Given the description of an element on the screen output the (x, y) to click on. 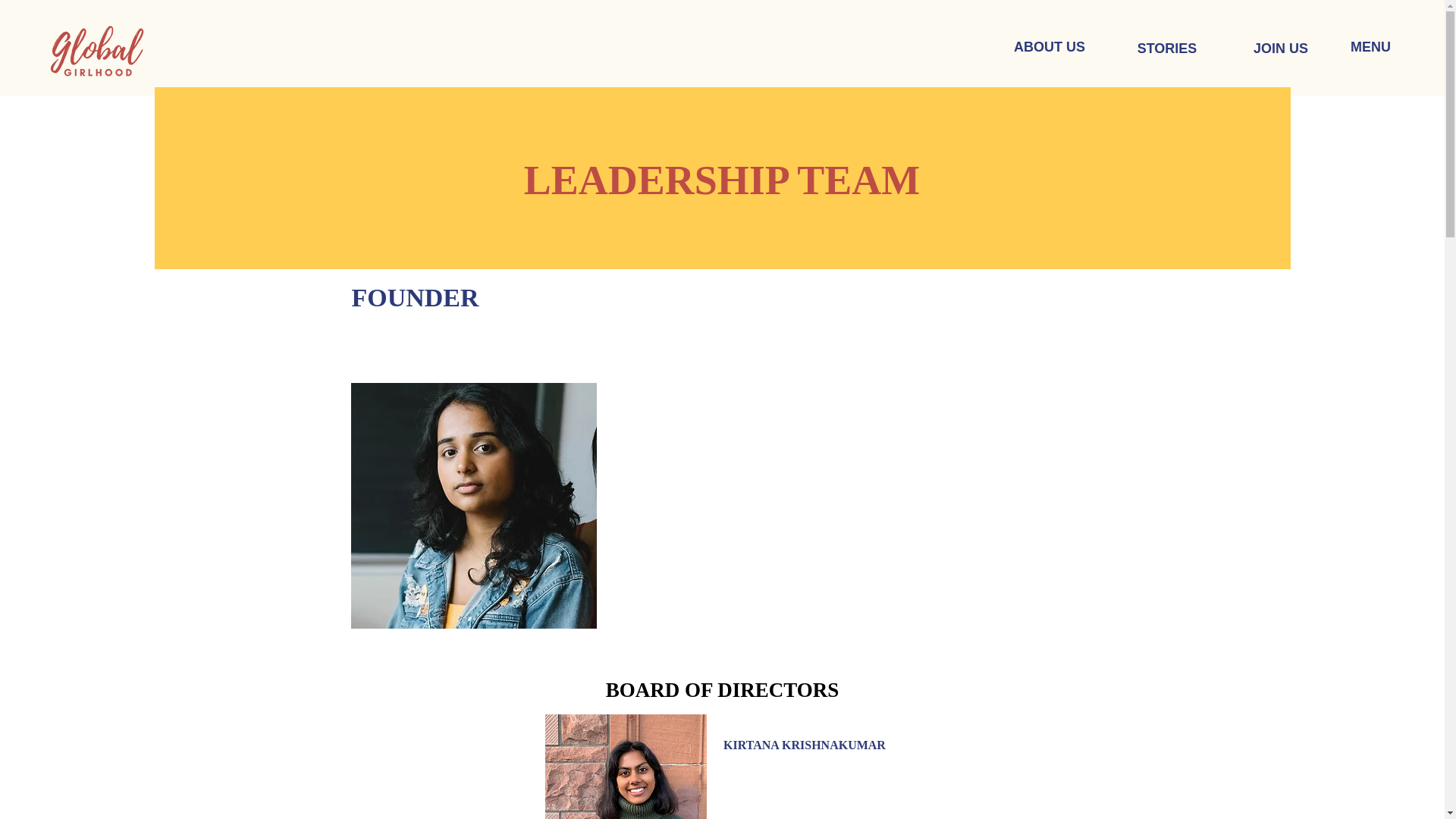
ABOUT US (1049, 47)
STORIES (1166, 48)
JOIN US (1280, 48)
